Given the description of an element on the screen output the (x, y) to click on. 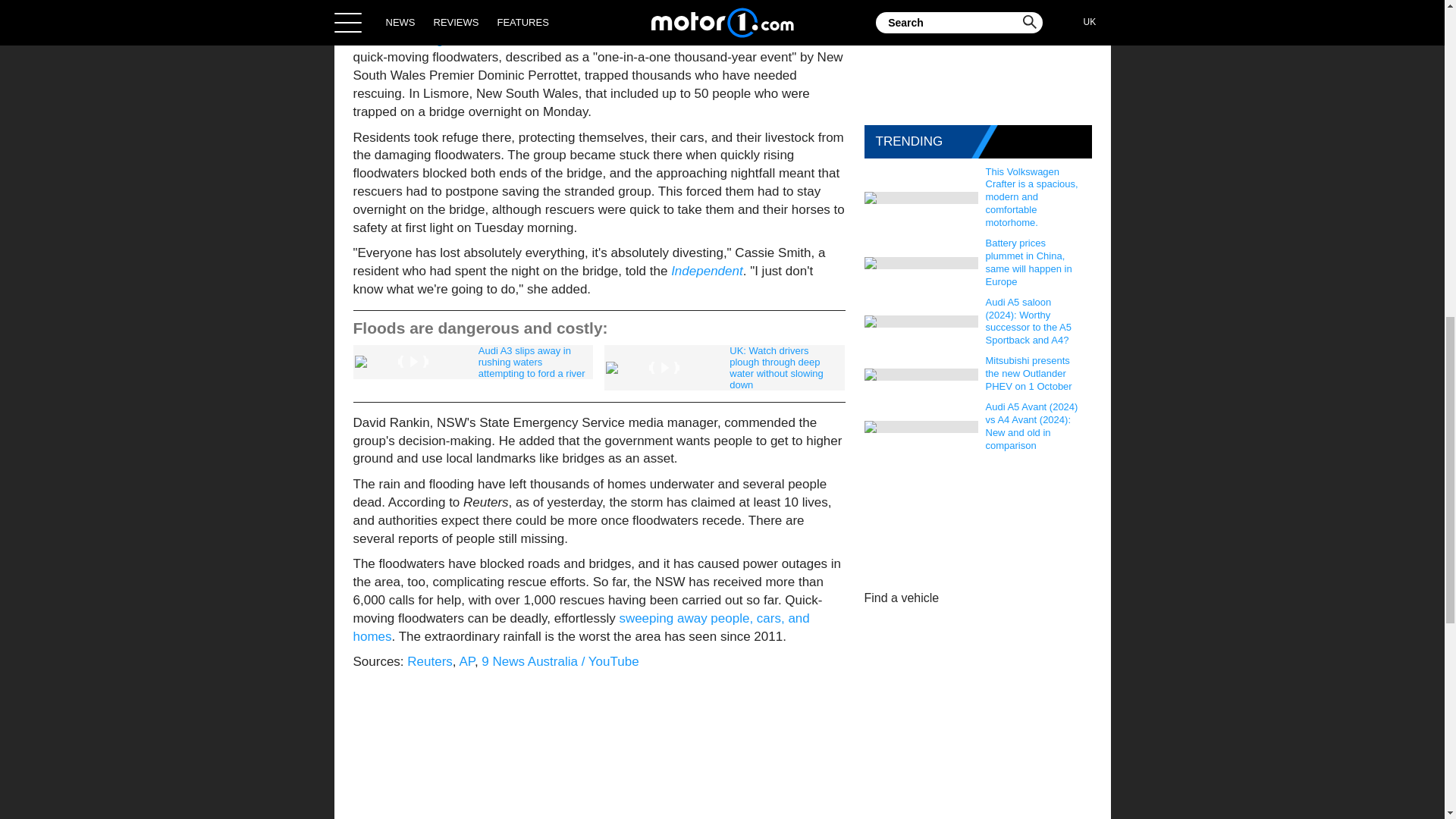
Independent (706, 270)
Reuters (429, 661)
flooding (420, 39)
Australia (537, 39)
AP (466, 661)
sweeping away people, cars, and homes (581, 626)
Brian Potter (532, 1)
